Given the description of an element on the screen output the (x, y) to click on. 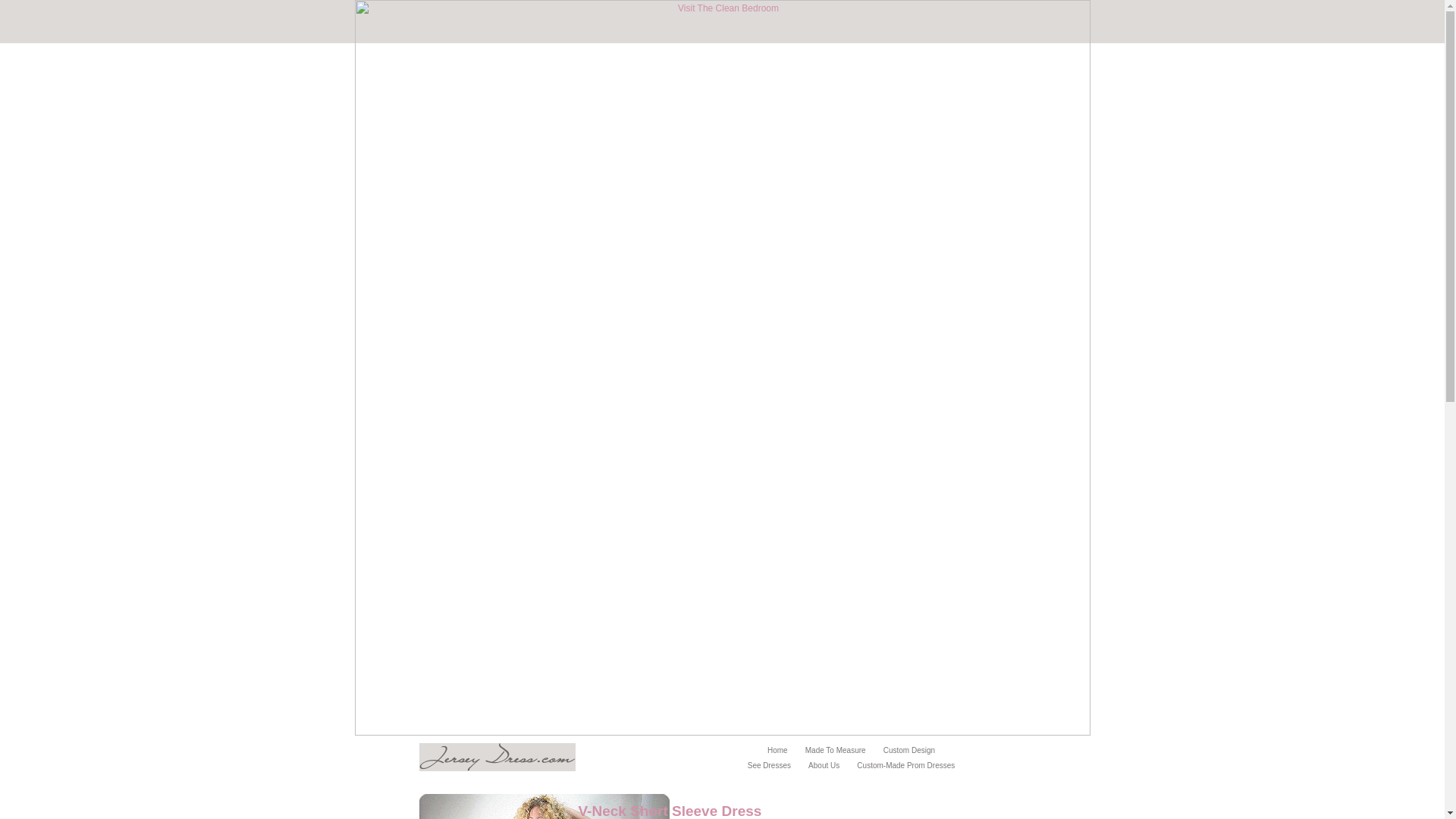
Made To Measure (835, 750)
Custom Design (909, 750)
JerseyDress.com (497, 756)
Home (777, 750)
See Dresses (768, 765)
Custom-Made Prom Dresses (905, 765)
About Us (823, 765)
